Given the description of an element on the screen output the (x, y) to click on. 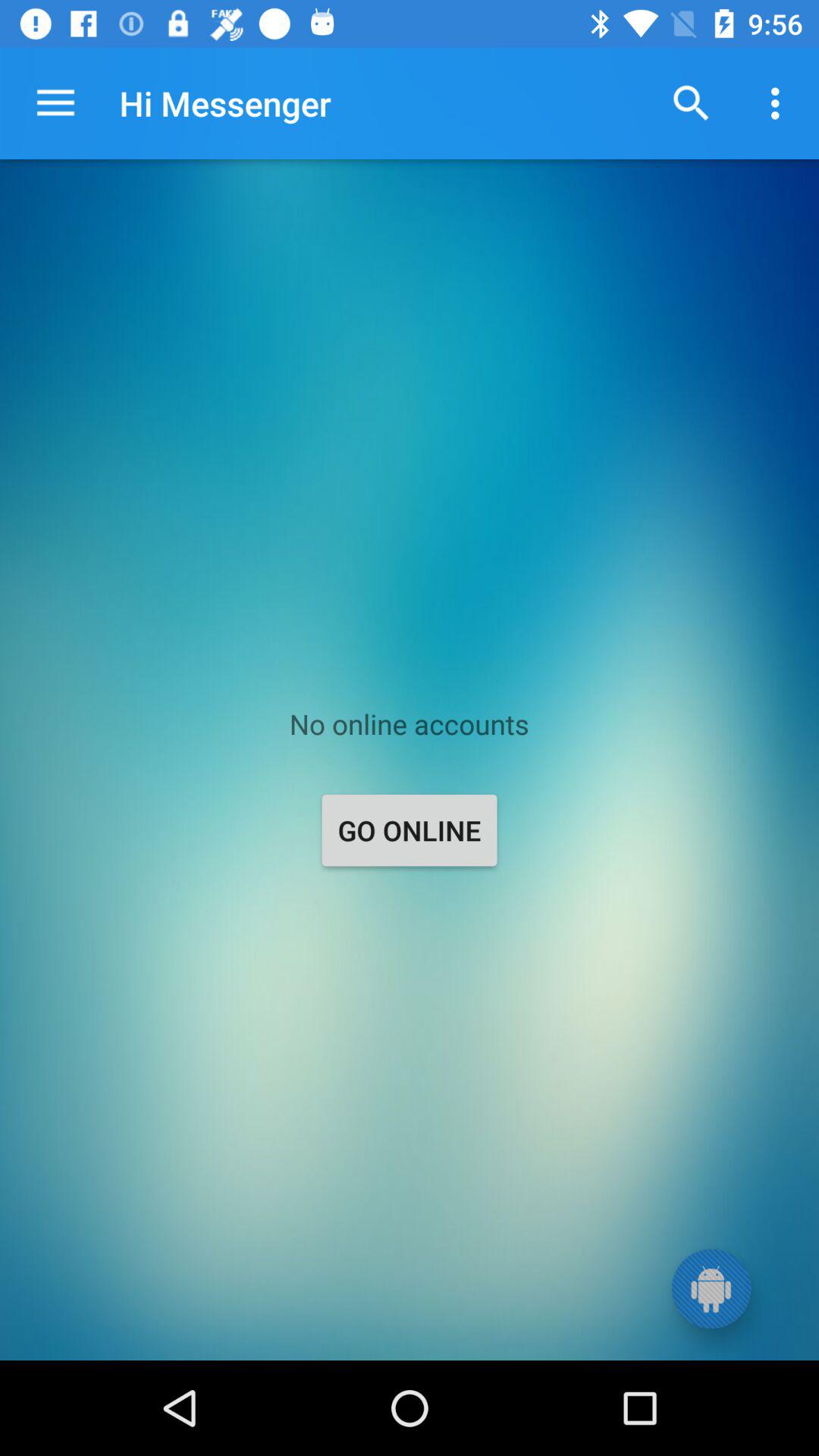
select the item to the right of hi messenger item (691, 103)
